Given the description of an element on the screen output the (x, y) to click on. 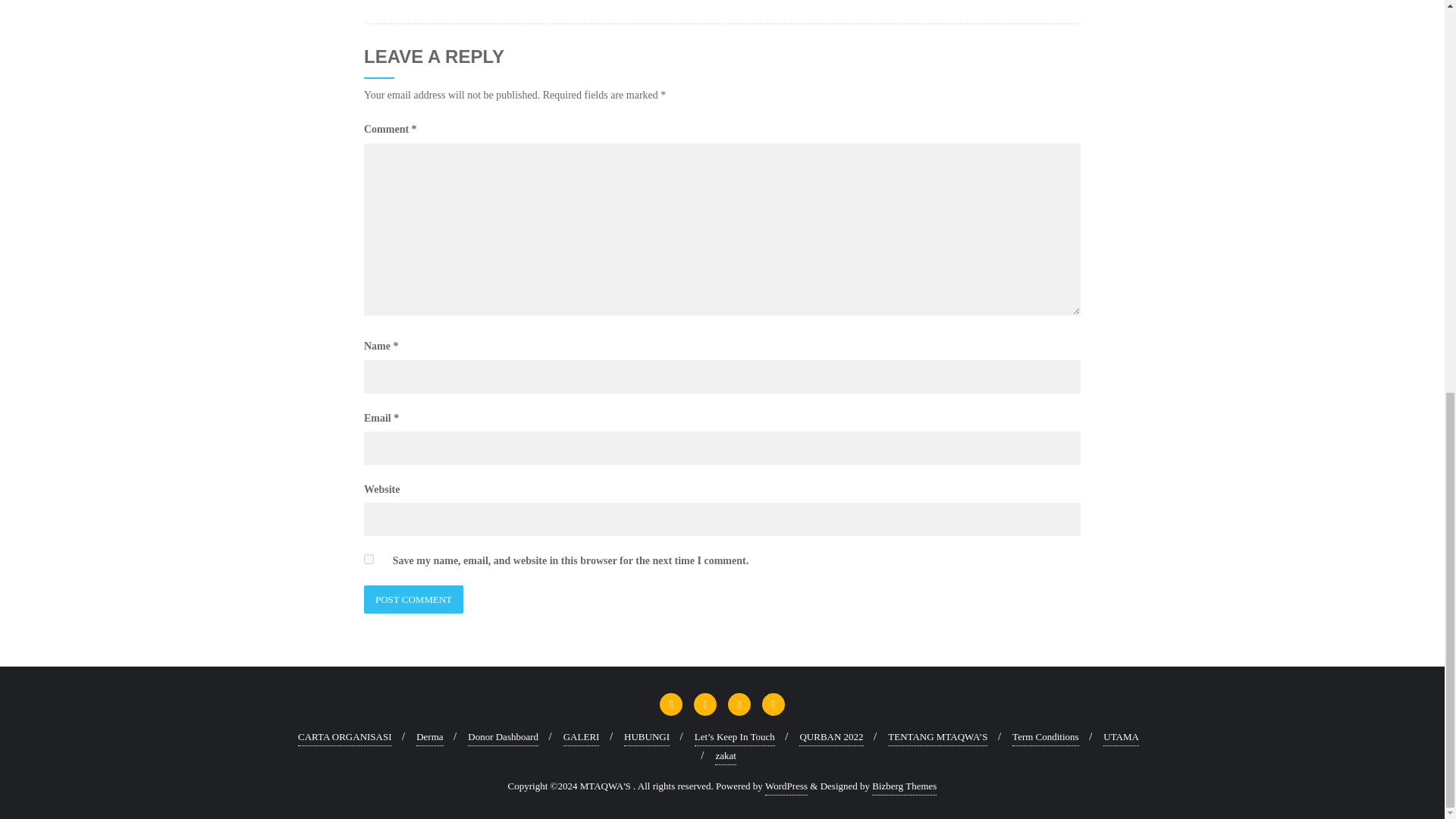
QURBAN 2022 (831, 737)
Donor Dashboard (502, 737)
HUBUNGI (646, 737)
GALERI (581, 737)
CARTA ORGANISASI (344, 737)
Derma (429, 737)
Post Comment (413, 599)
Term Conditions (1044, 737)
UTAMA (1120, 737)
yes (369, 559)
